Given the description of an element on the screen output the (x, y) to click on. 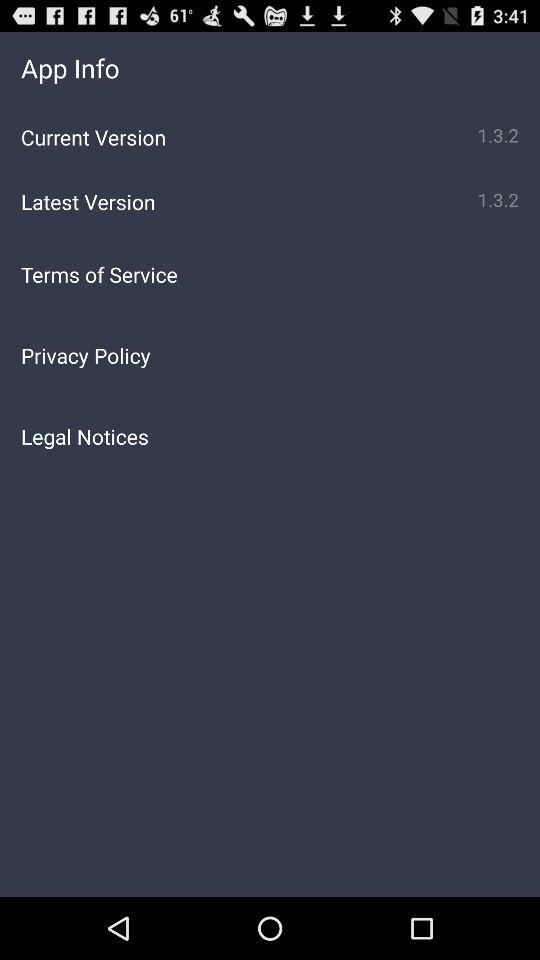
jump to the privacy policy item (270, 355)
